Given the description of an element on the screen output the (x, y) to click on. 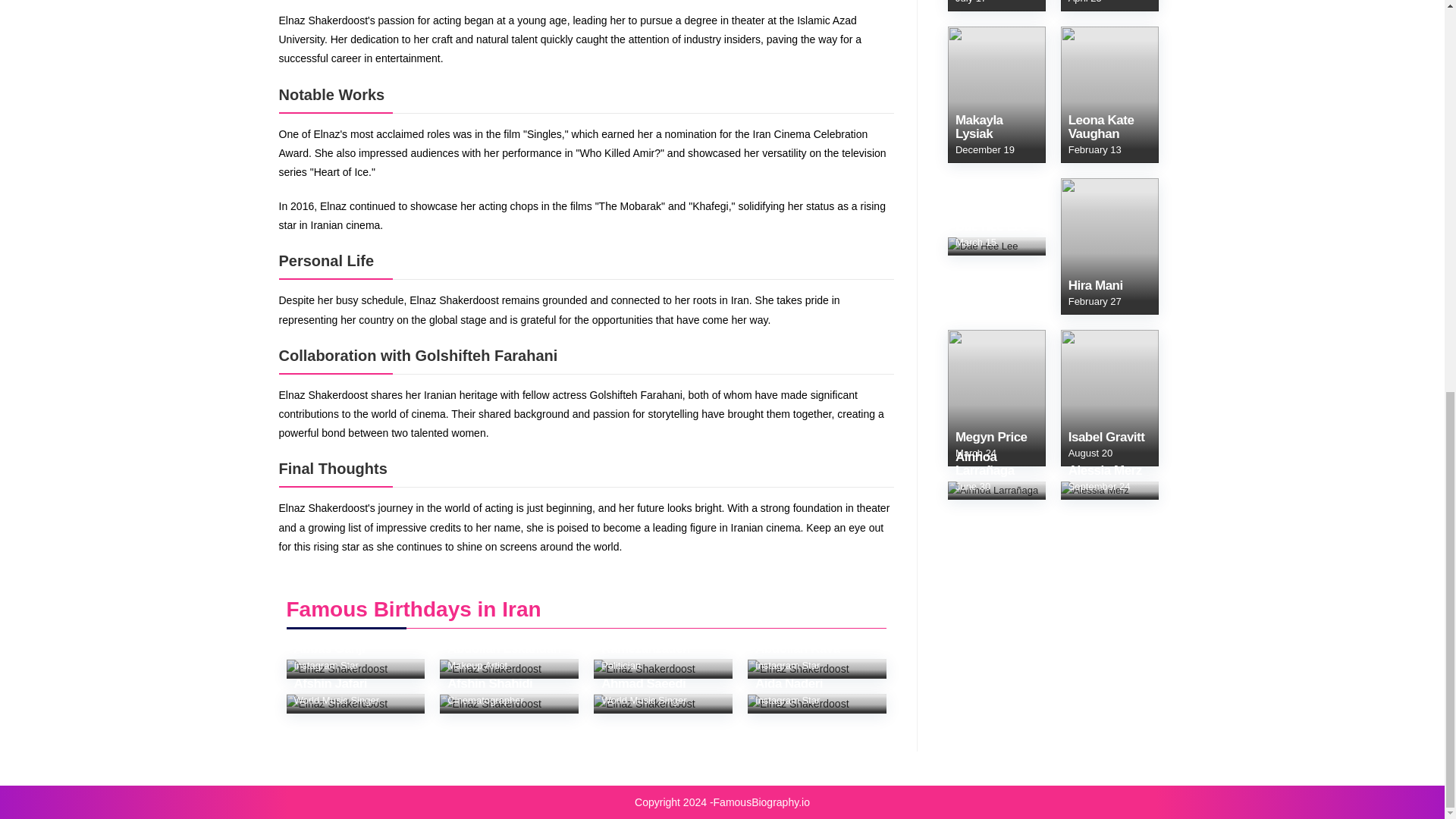
World Music Singer (336, 699)
Afshin Shahidi (489, 691)
Instagram Star (787, 665)
Politician (620, 665)
Cinematographer (484, 699)
Elnaz Shakerdoost (798, 703)
Makeup Artist (476, 665)
Ahmad Saeedi (643, 691)
Elnaz Shakerdoost (490, 669)
Abbas Ganji (329, 656)
Abdollah Rava (797, 656)
Famous Birthdays in Iran (413, 608)
Afshin Shahidi (489, 691)
Abdollah Ramezanzadeh (663, 649)
Elnaz Shakerdoost (337, 669)
